Given the description of an element on the screen output the (x, y) to click on. 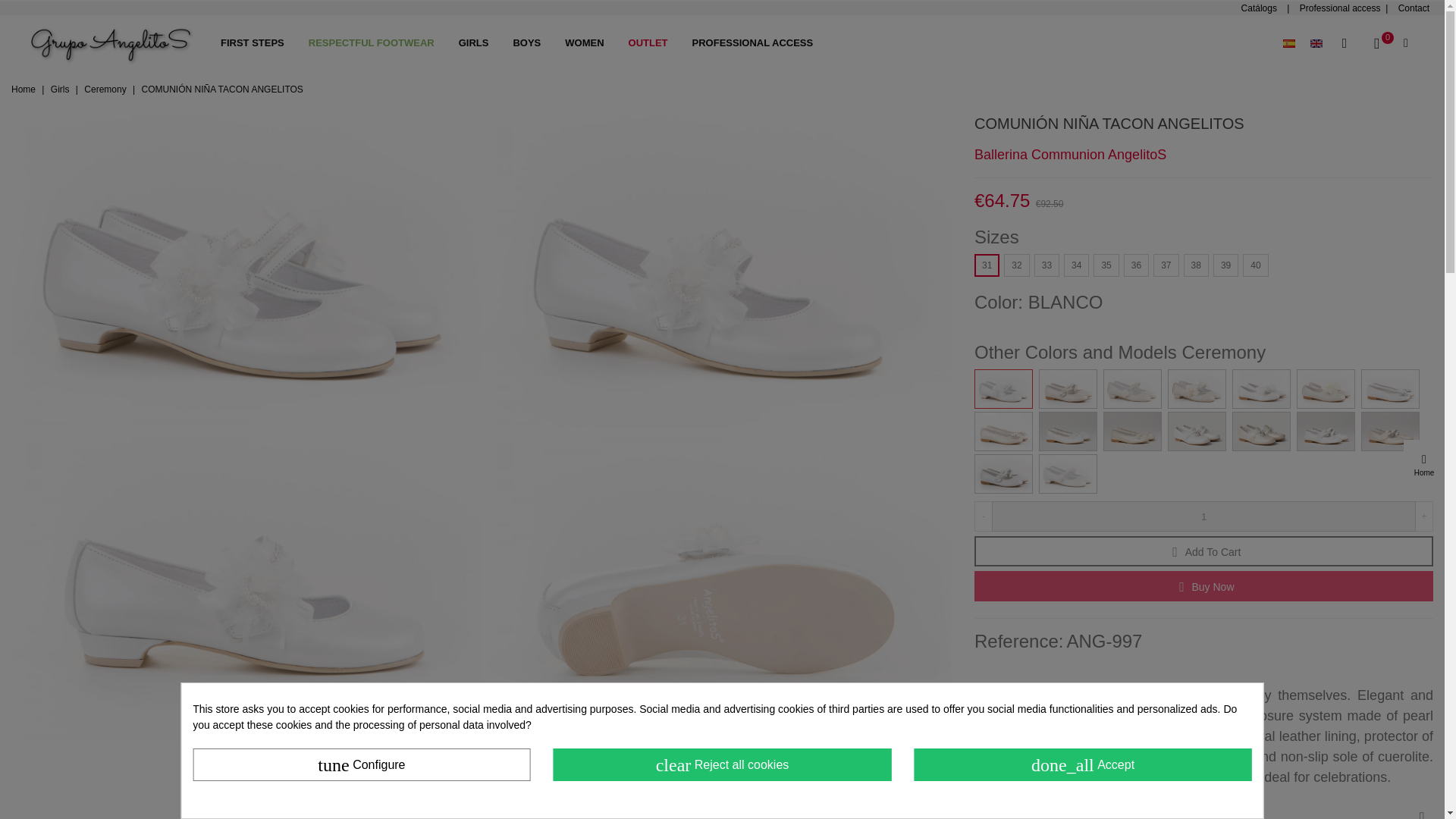
First Steps (252, 43)
RESPECTFUL FOOTWEAR (371, 43)
Contact (1413, 8)
P (1303, 8)
FIRST STEPS (252, 43)
GIRLS (473, 43)
1 (1203, 516)
